Given the description of an element on the screen output the (x, y) to click on. 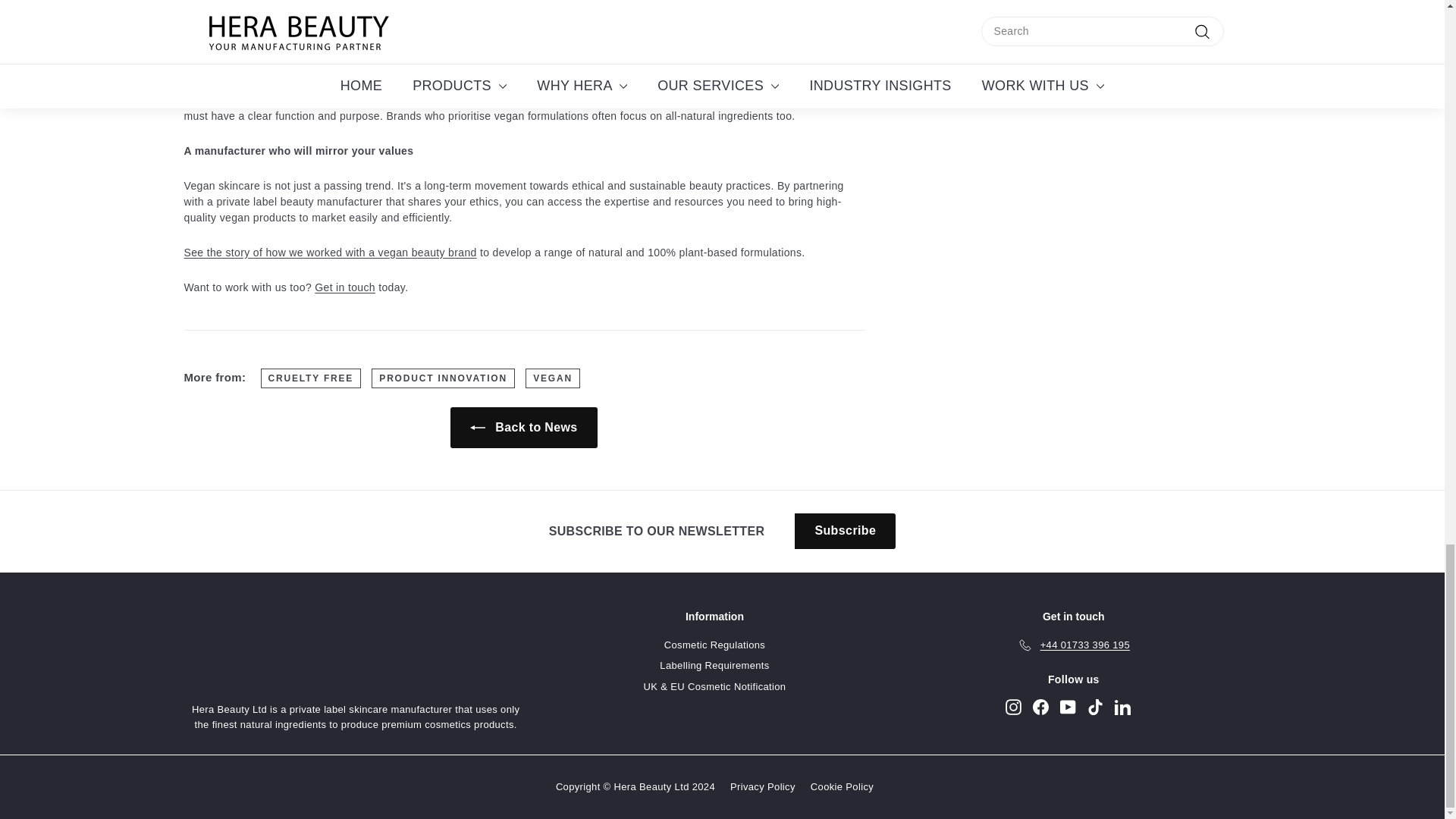
Hera Beauty Ltd on LinkedIn (1123, 706)
icon-left-arrow (477, 427)
Hera Beauty Ltd on YouTube (1067, 706)
Hera Beauty Ltd on TikTok (1095, 706)
Hera Beauty Ltd on Instagram (1014, 706)
instagram (1014, 706)
Hera Beauty Ltd on Facebook (1040, 706)
